Given the description of an element on the screen output the (x, y) to click on. 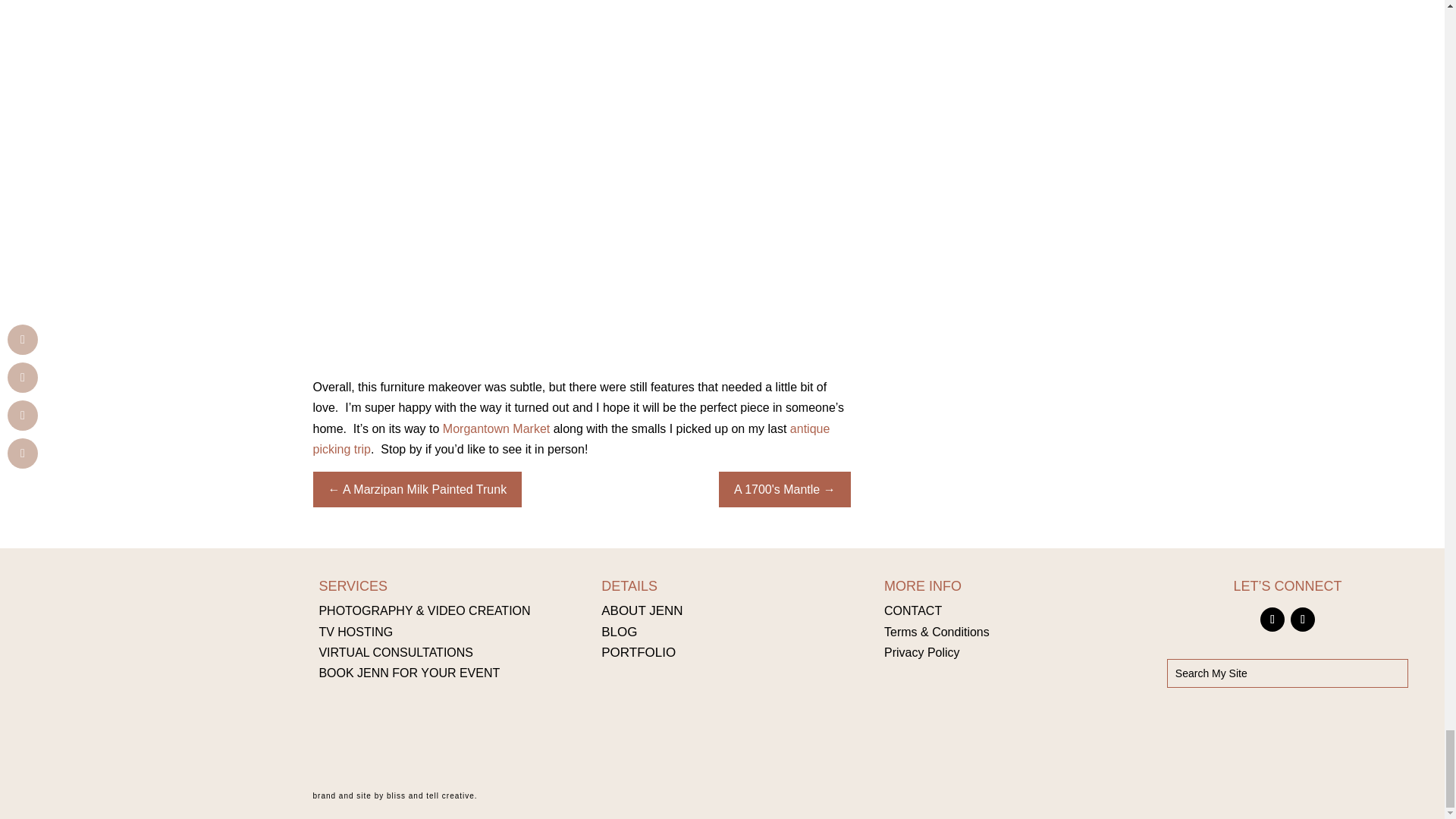
Follow on Instagram (1302, 619)
antique picking trip (571, 438)
Follow on Facebook (1272, 619)
Morgantown Market (496, 428)
